Given the description of an element on the screen output the (x, y) to click on. 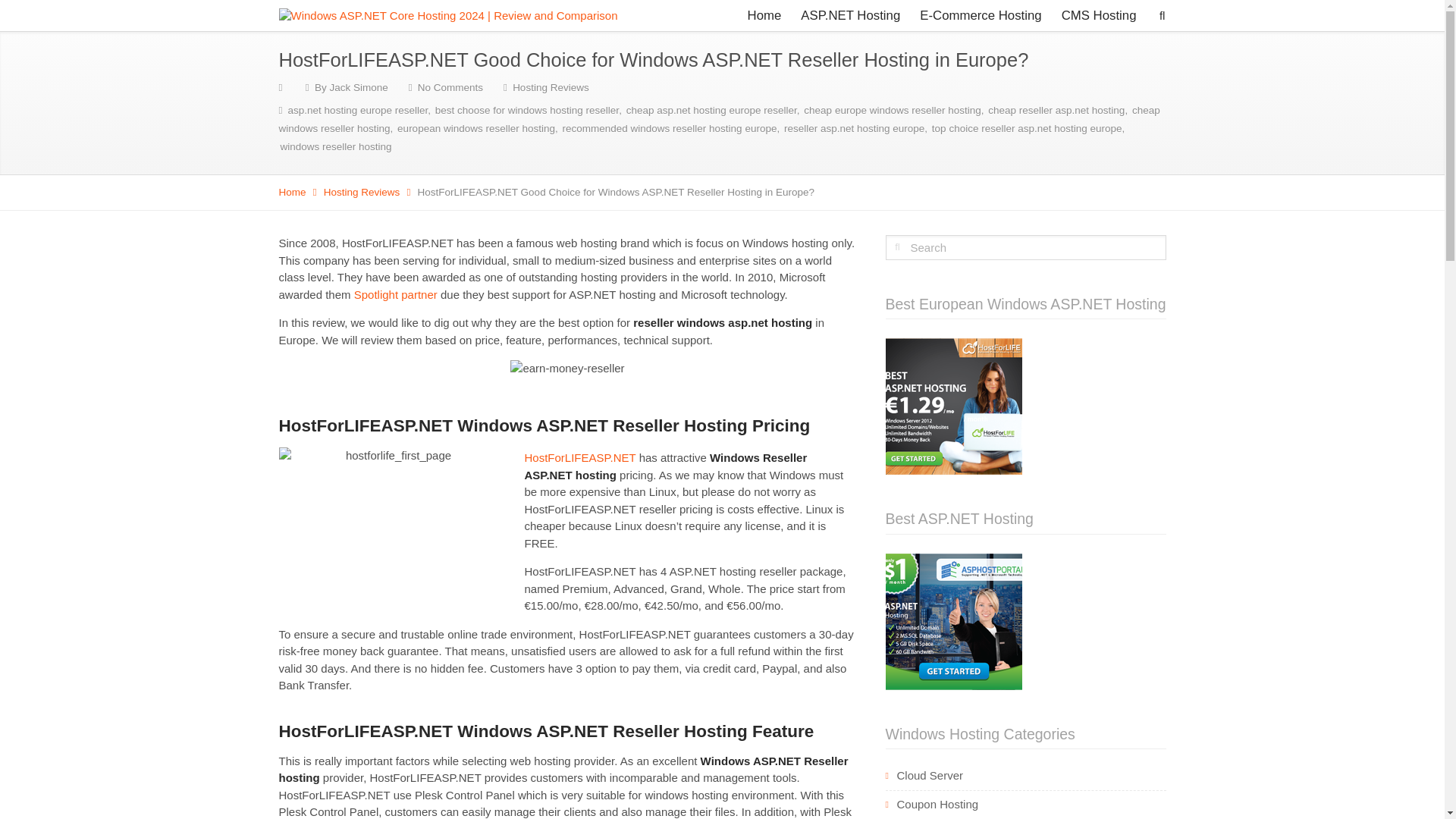
asp.net hosting europe reseller (358, 110)
european windows reseller hosting (475, 128)
No Comments (450, 87)
Hosting Reviews (550, 87)
E-Commerce Hosting (980, 15)
top choice reseller asp.net hosting europe (1026, 128)
cheap asp.net hosting europe reseller (711, 110)
recommended windows reseller hosting europe (669, 128)
Home (292, 192)
cheap windows reseller hosting (719, 119)
Home (765, 15)
cheap reseller asp.net hosting (1056, 110)
View all posts in Hosting Reviews (361, 192)
Spotlight partner (395, 294)
reseller asp.net hosting europe (854, 128)
